Given the description of an element on the screen output the (x, y) to click on. 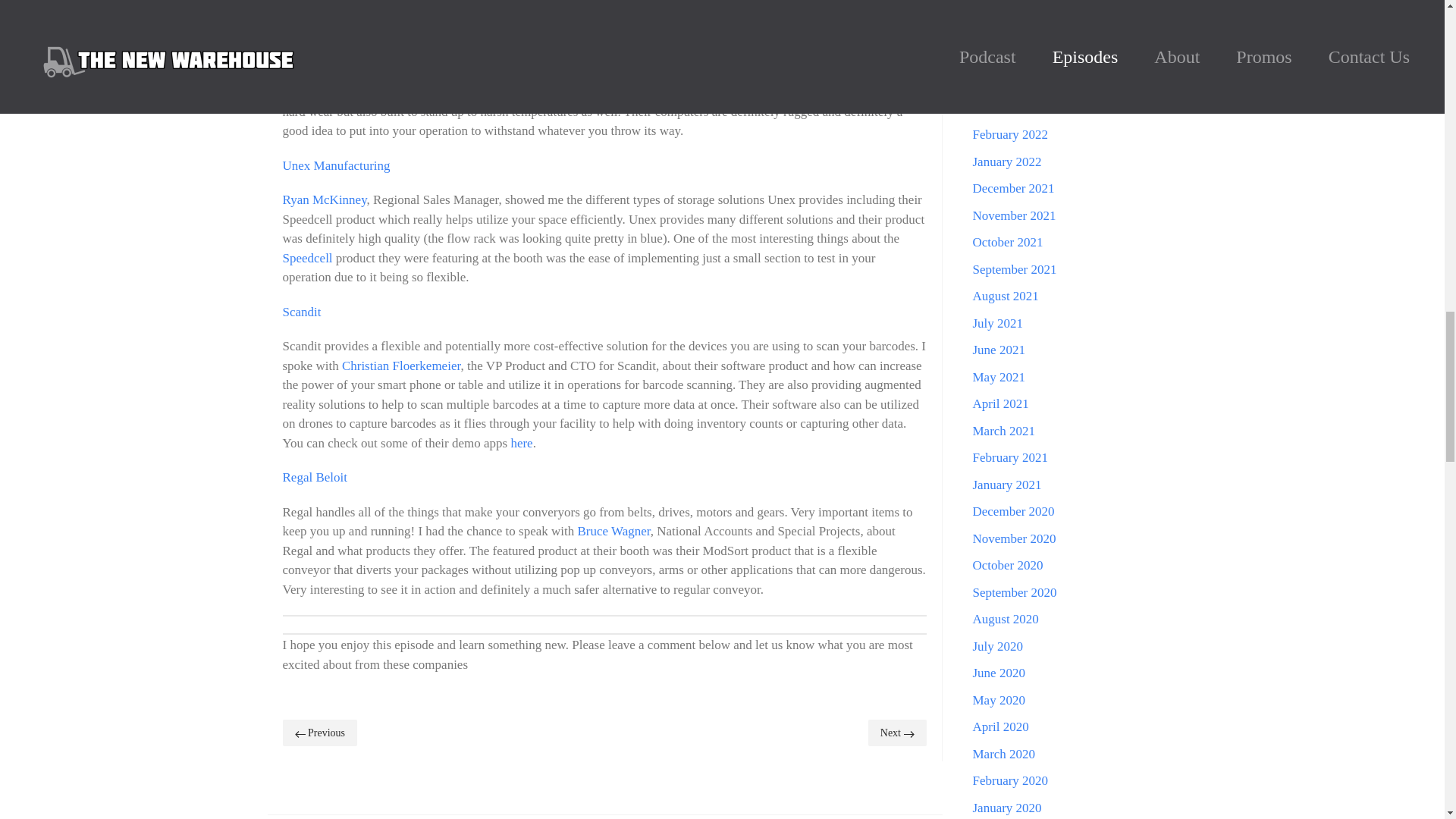
here (521, 442)
Christian Floerkemeier (401, 365)
Matt Meersman (389, 73)
JLT Computers (321, 38)
Unex Manufacturing (336, 165)
Bruce Wagner (614, 531)
Scandit (301, 311)
Next (896, 732)
Speedcell (306, 257)
Ryan McKinney (324, 199)
Previous (319, 732)
Regal Beloit (314, 477)
